Given the description of an element on the screen output the (x, y) to click on. 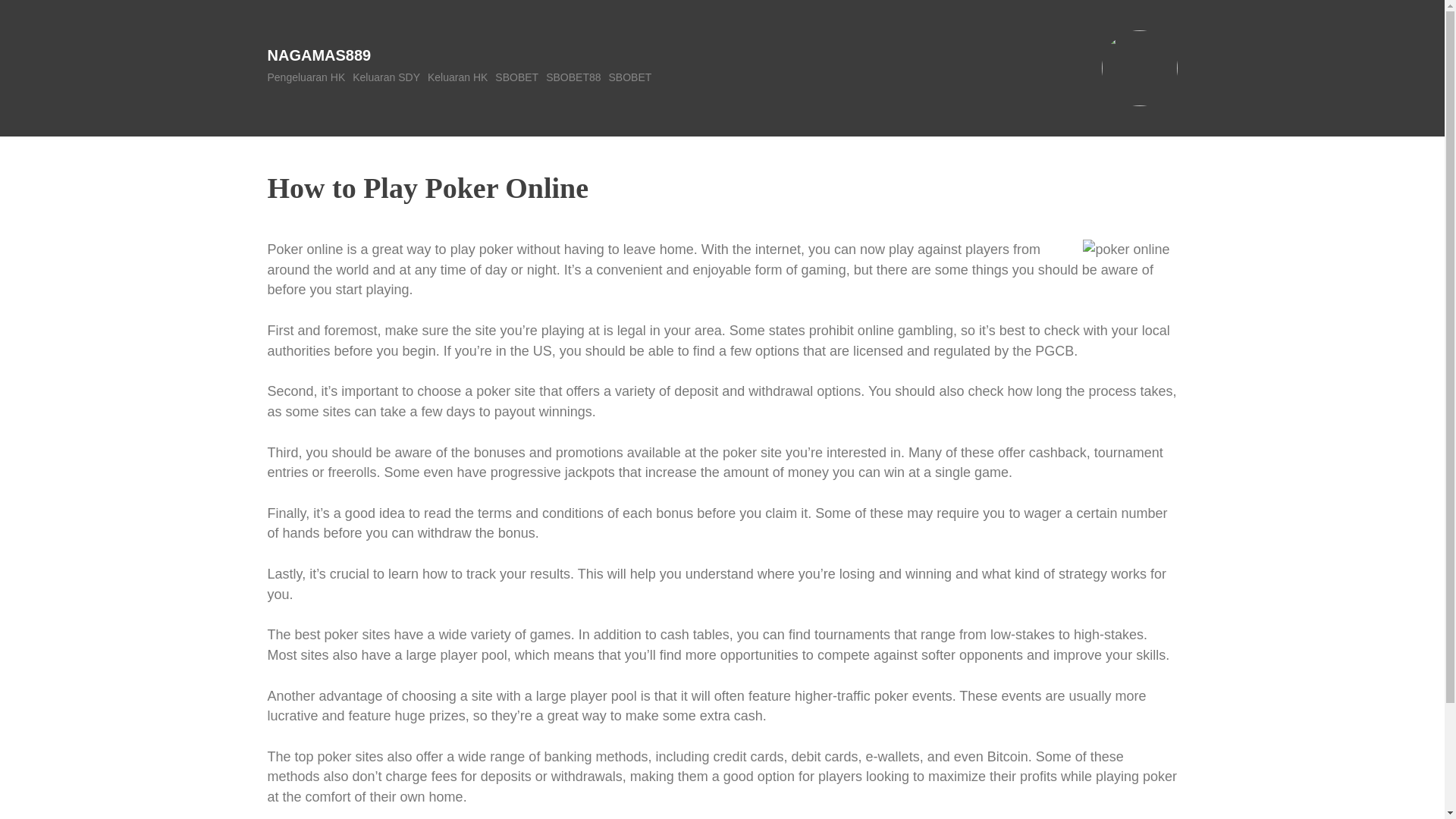
Keluaran SDY (386, 77)
SBOBET (630, 77)
nagamas889 (318, 54)
SBOBET (516, 77)
Pengeluaran HK (305, 77)
SBOBET88 (572, 77)
Keluaran HK (457, 77)
NAGAMAS889 (318, 54)
